Given the description of an element on the screen output the (x, y) to click on. 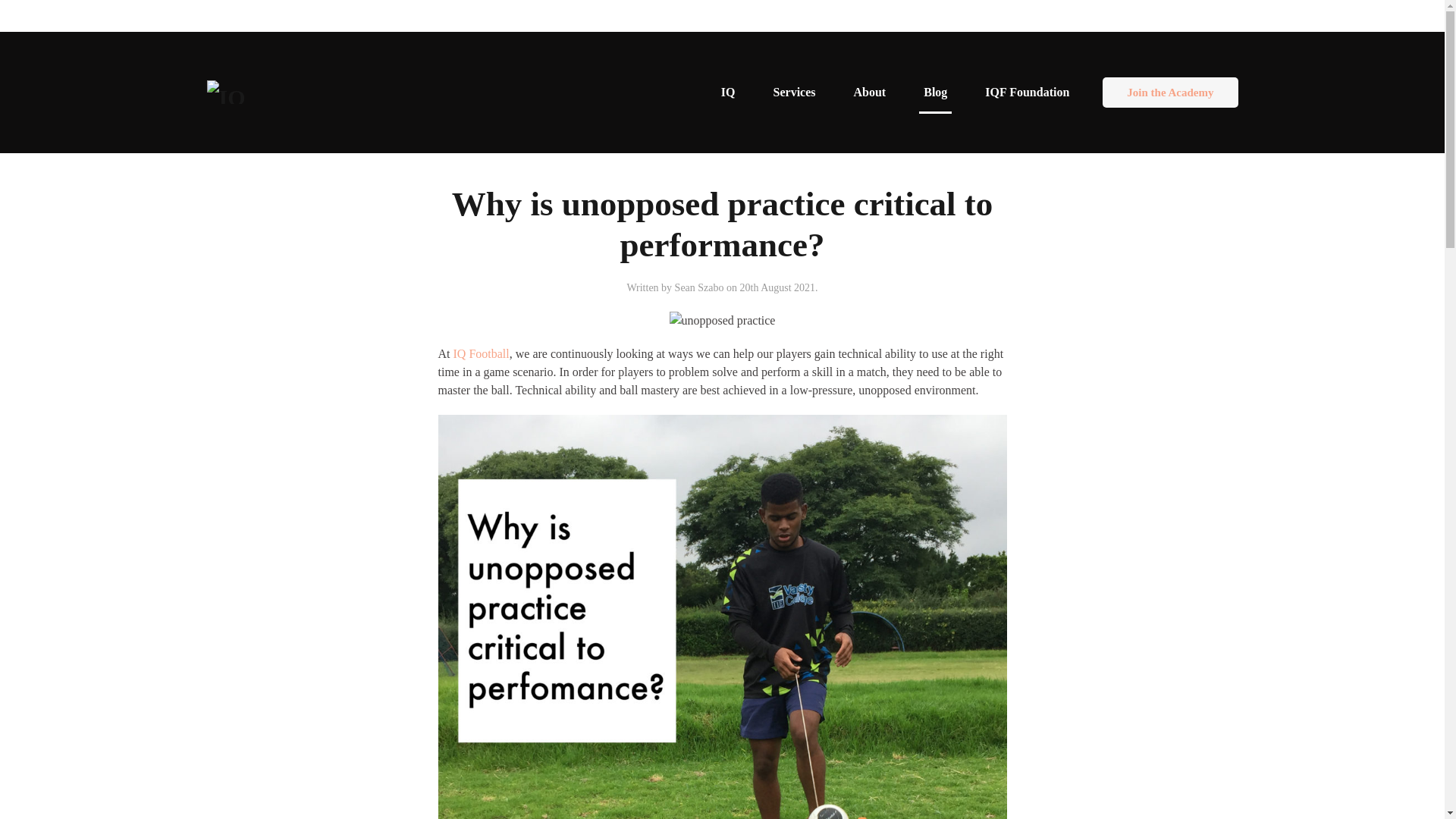
Sean Szabo (699, 287)
Join the Academy (1169, 91)
Join the Academy (1169, 92)
IQ Football (480, 353)
IQF Foundation (1026, 92)
